Given the description of an element on the screen output the (x, y) to click on. 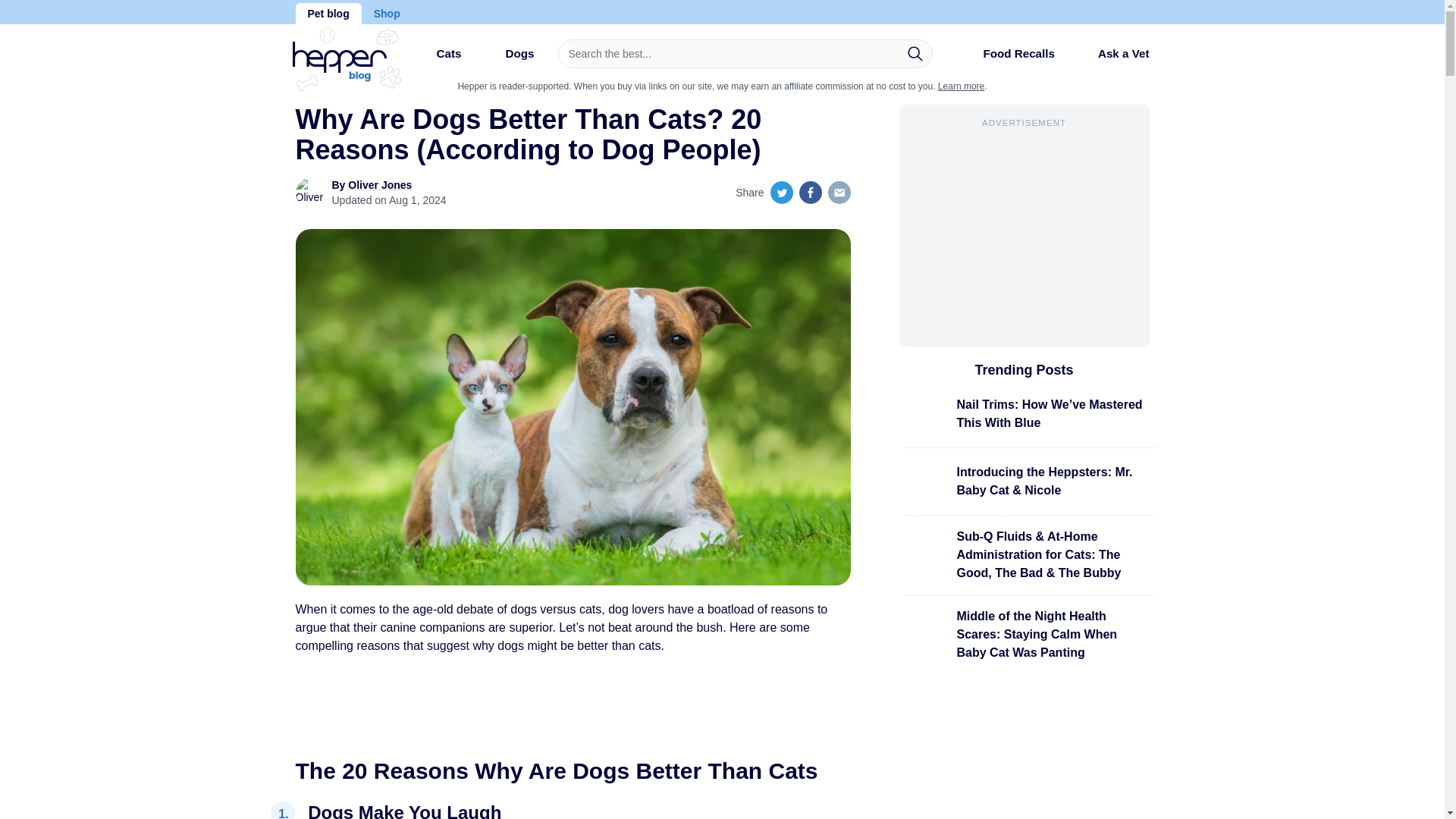
Learn more (960, 86)
Food Recalls (1005, 59)
Cats (435, 59)
Dogs (506, 59)
Ask a Vet (1111, 53)
Oliver Jones (379, 184)
Shop (387, 13)
